Given the description of an element on the screen output the (x, y) to click on. 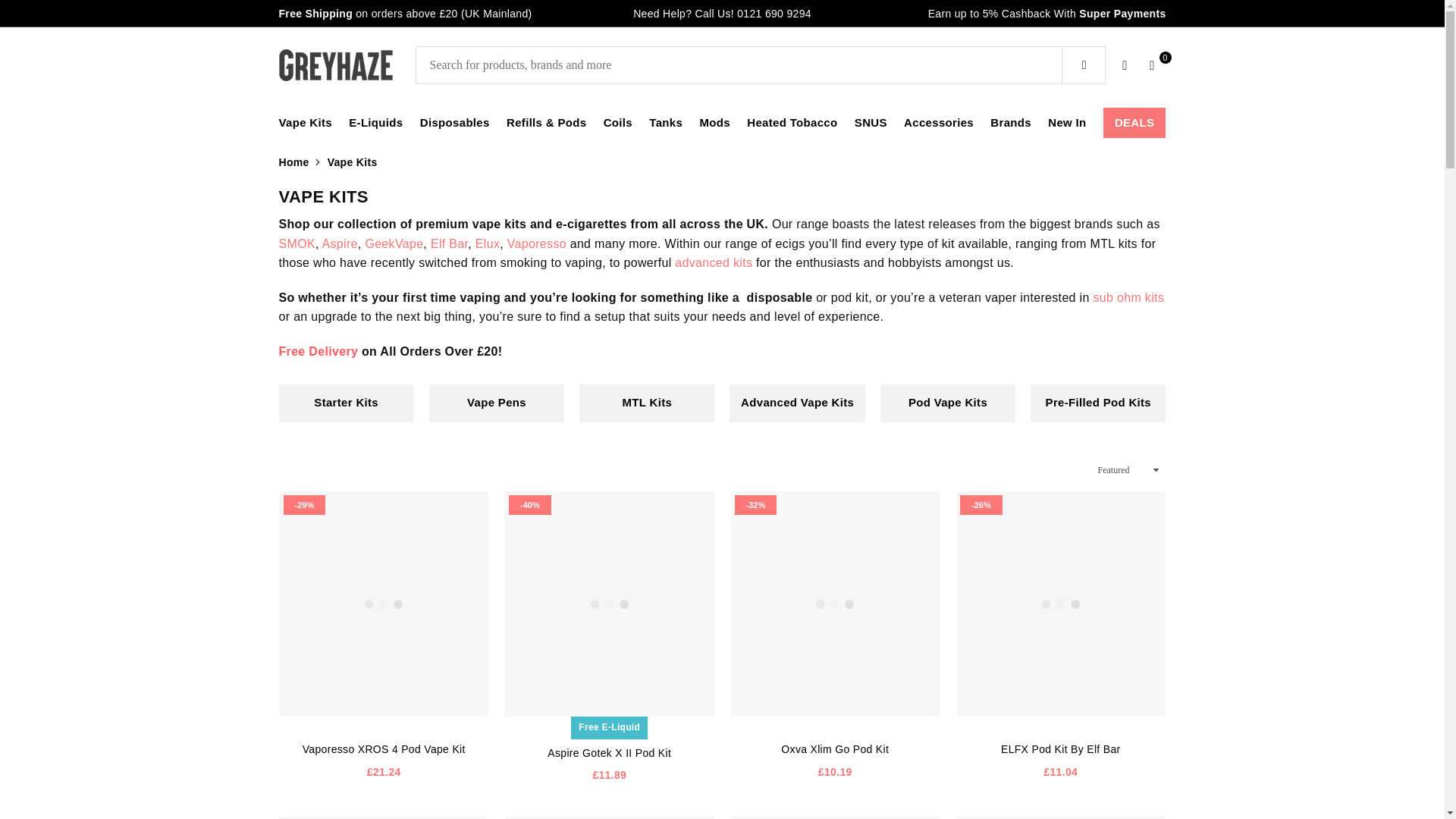
sub ohm vape kits (1128, 297)
Vaporesso Vapes (536, 243)
GREY HAZE (346, 65)
Pre-filled pod kits (1098, 403)
SMOK Tech Vape (297, 243)
Vape Kits (305, 122)
Shop MTL Vape Kits (646, 403)
Best Elf Bar Disposable Vapes (448, 243)
Aspire Vapes  (339, 243)
0 (1152, 65)
Shop advanced vape Kits (796, 403)
Shop Vape Starter Kits (346, 403)
SUBMIT (1083, 64)
Settings (1125, 65)
Shop Vape Pens (496, 403)
